Given the description of an element on the screen output the (x, y) to click on. 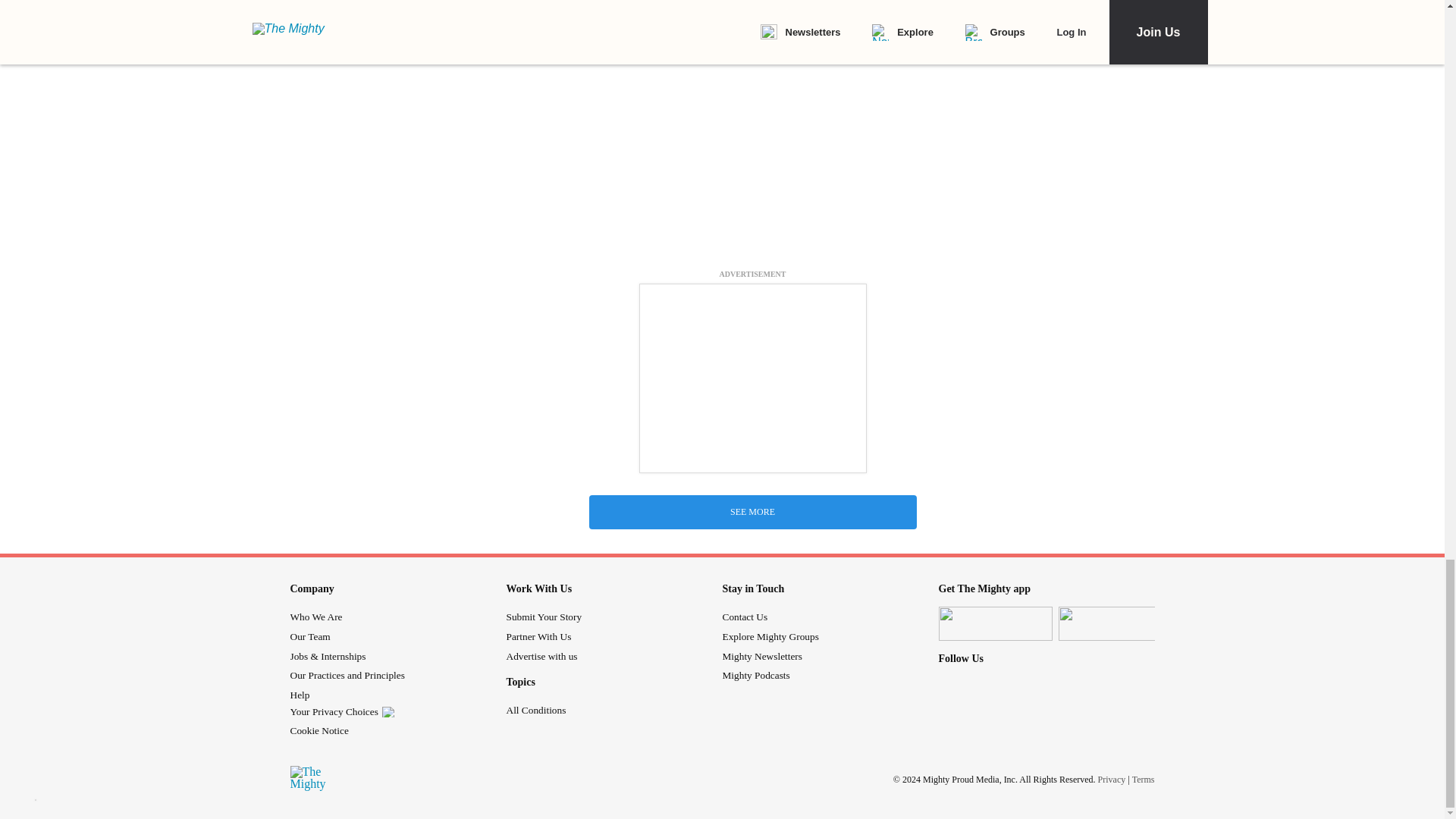
Help (298, 695)
Our Team (309, 636)
Our Practices and Principles (346, 674)
Who We Are (315, 616)
SEE MORE (751, 512)
